Given the description of an element on the screen output the (x, y) to click on. 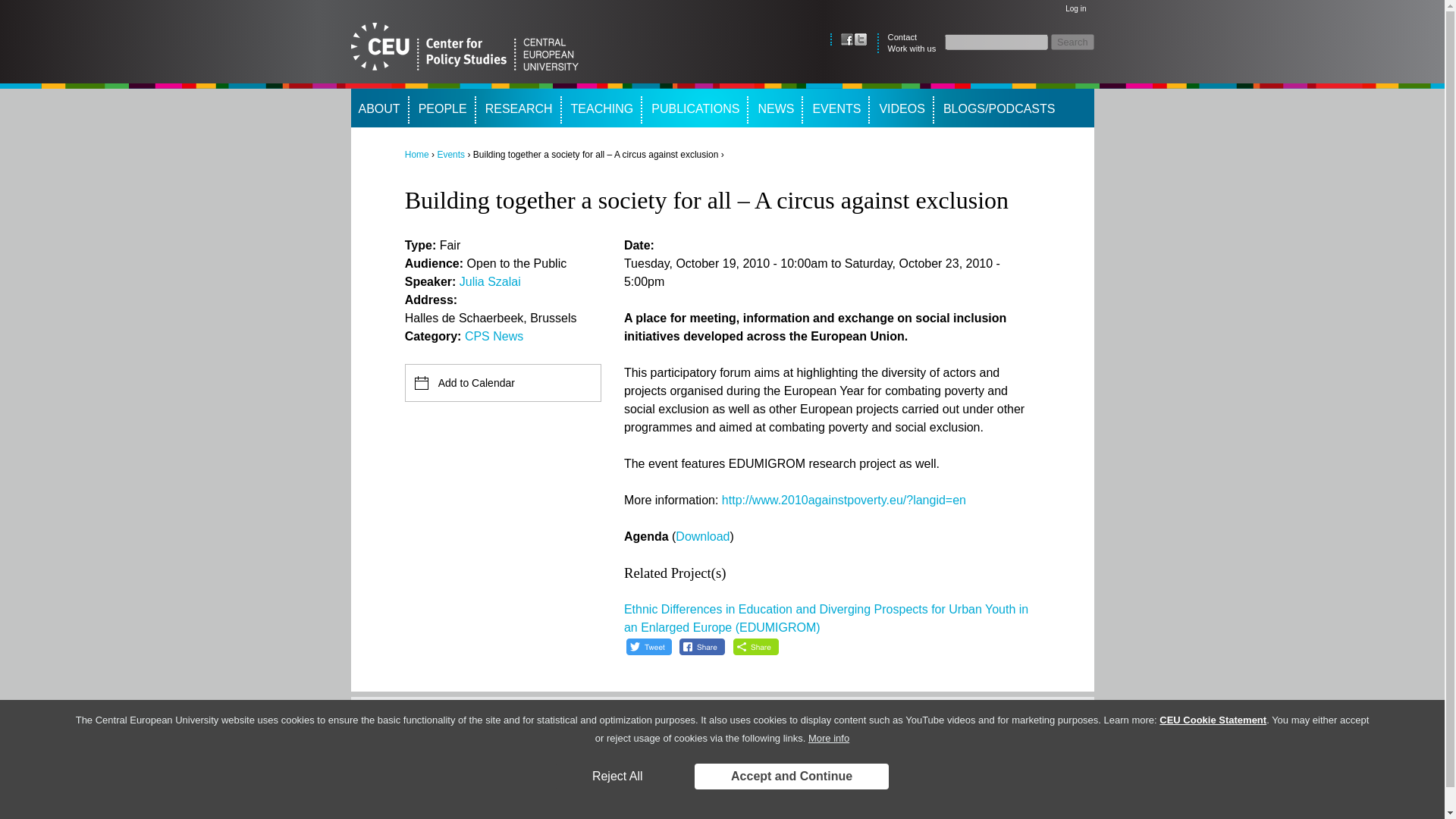
Julia Szalai (490, 281)
Home (464, 49)
Search (1072, 41)
CPS News (493, 336)
Home (416, 154)
Contact (902, 36)
Facebook (847, 39)
Enter the terms you wish to search for. (996, 41)
twitter (860, 39)
Download (702, 535)
ABOUT (378, 108)
Events (450, 154)
Log in (1075, 8)
PEOPLE (438, 108)
RESEARCH (514, 108)
